Given the description of an element on the screen output the (x, y) to click on. 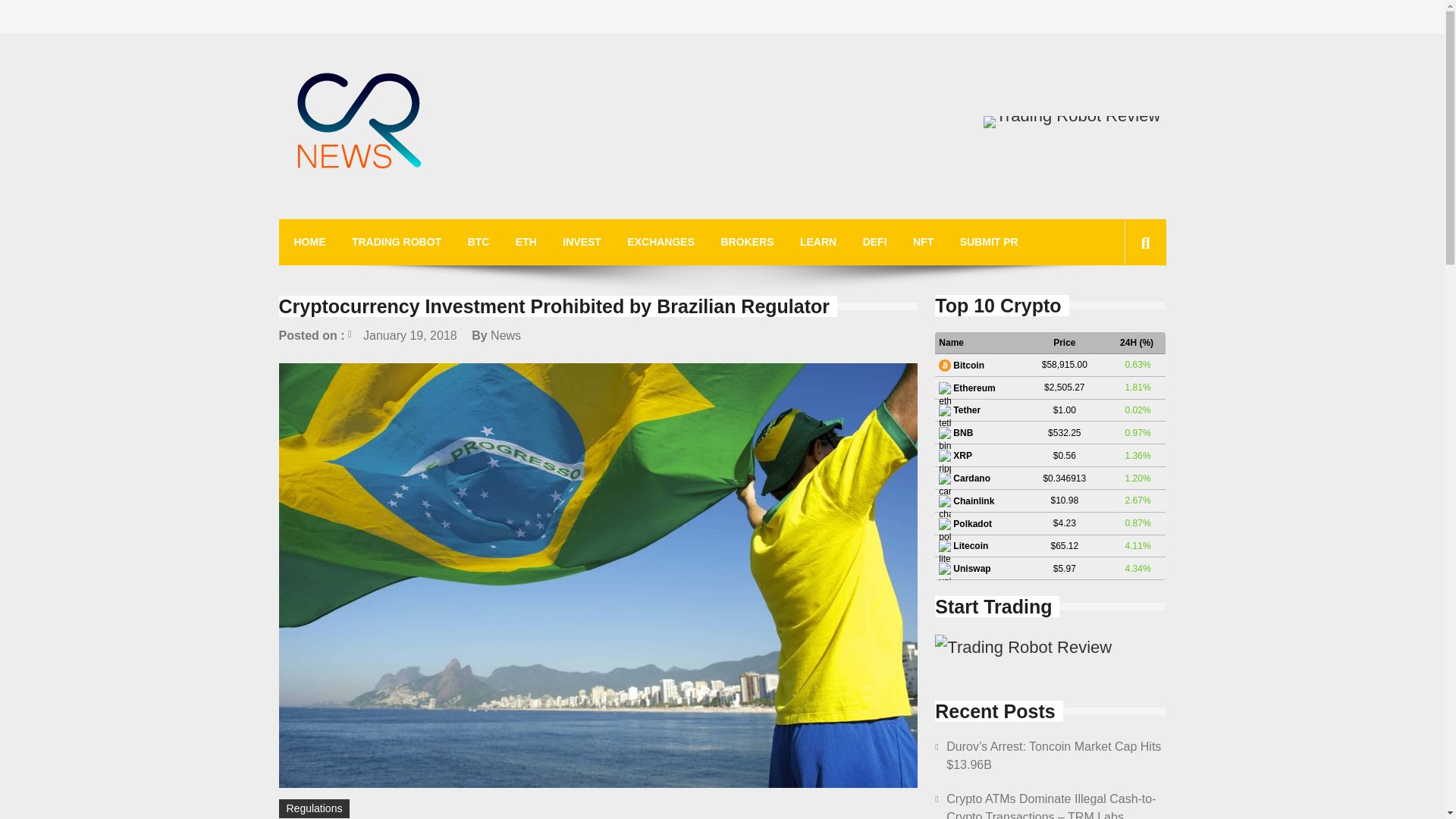
News (505, 335)
CryptocyNews.com (402, 211)
TRADING ROBOT (396, 242)
Trading Robot Review (1023, 647)
Posts by News (505, 335)
BROKERS (746, 242)
SUBMIT PR (988, 242)
EXCHANGES (660, 242)
Search (1120, 311)
cryptocy-2-1 - CryptocyNews.com (359, 123)
